Given the description of an element on the screen output the (x, y) to click on. 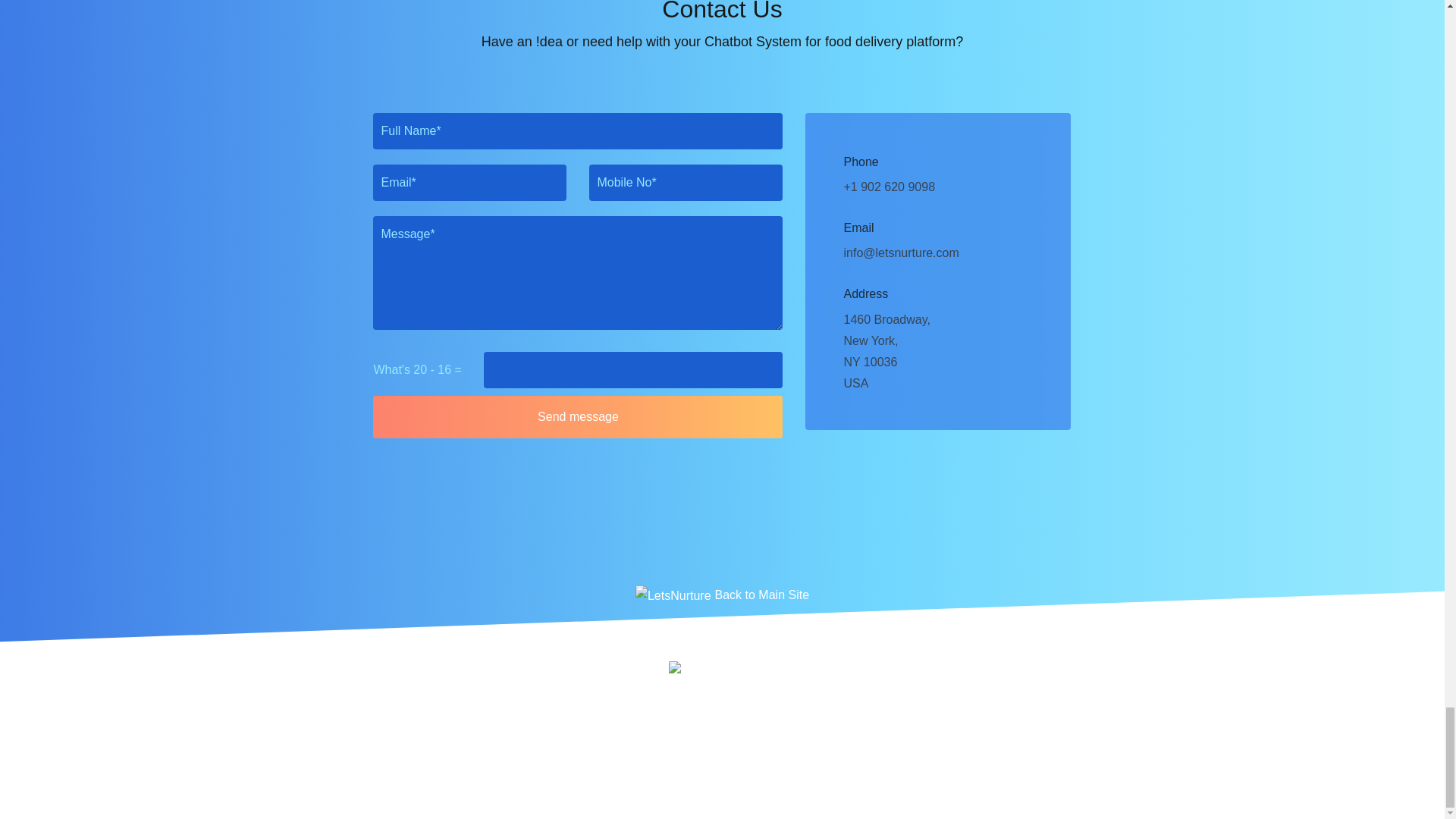
Help (835, 627)
Help (835, 627)
Features (670, 627)
Contact (898, 627)
Send message (577, 416)
Features (670, 627)
Development (759, 627)
Development (759, 627)
Home (540, 627)
Send message (577, 416)
